Given the description of an element on the screen output the (x, y) to click on. 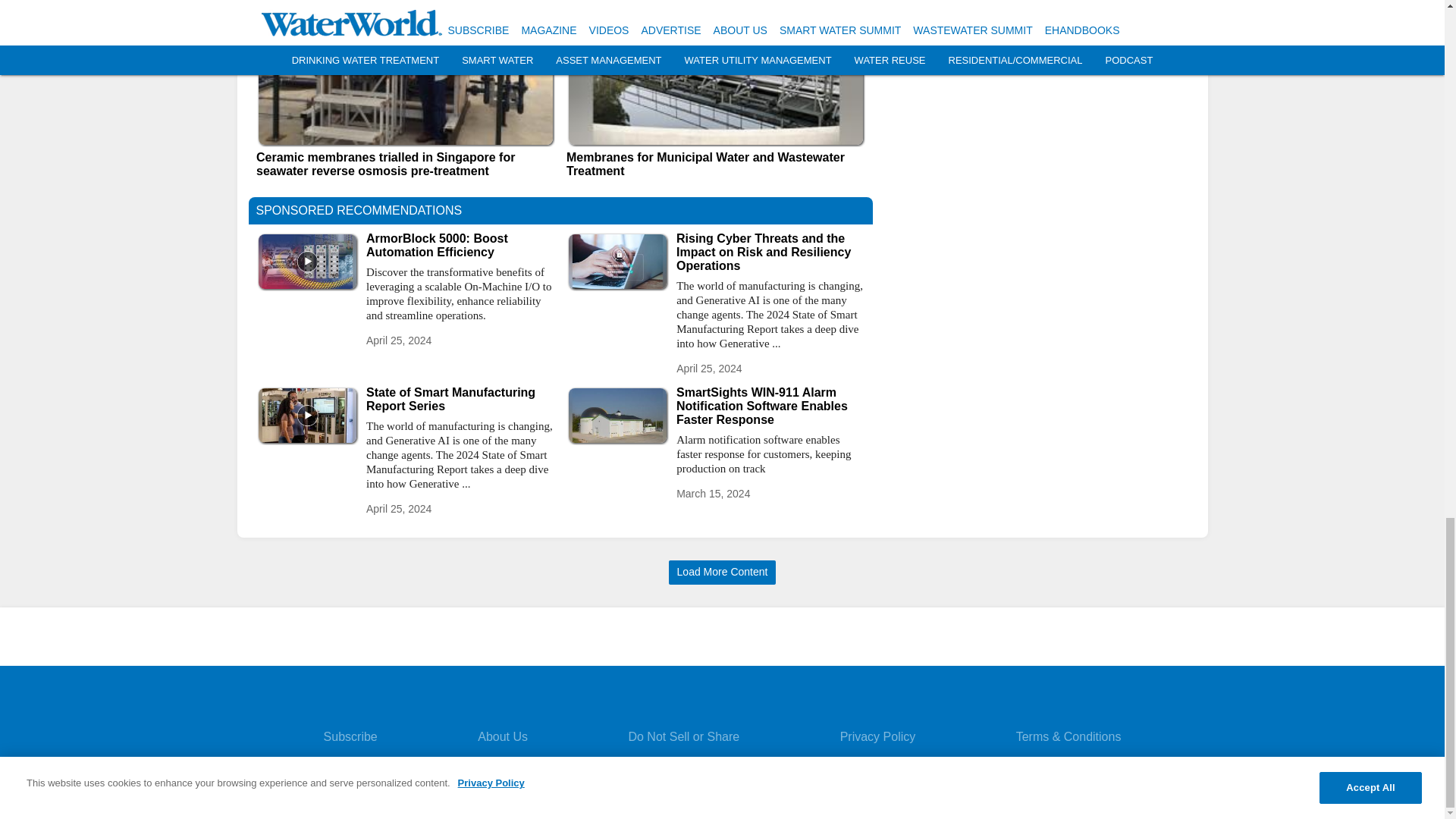
ArmorBlock 5000: Boost Automation Efficiency (459, 245)
Membranes for Municipal Water and Wastewater Treatment (715, 163)
